Given the description of an element on the screen output the (x, y) to click on. 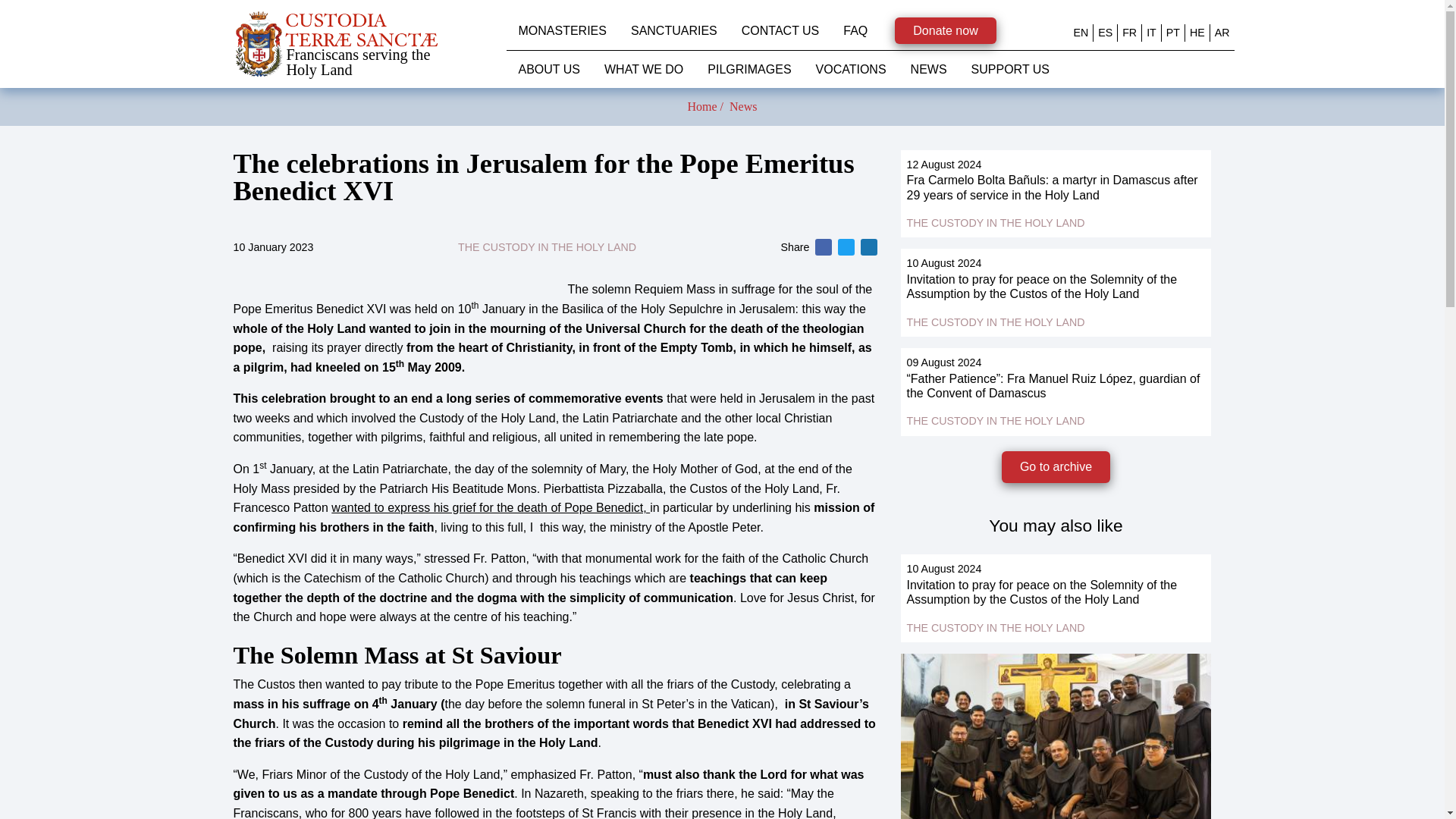
Donate now (945, 30)
EN (1080, 32)
FR (1129, 32)
CONTACT US (780, 30)
ES (1104, 32)
Donate now (944, 30)
Franciscans serving the Holy Land (369, 43)
SANCTUARIES (673, 30)
FAQ (855, 30)
MONASTERIES (562, 30)
